Given the description of an element on the screen output the (x, y) to click on. 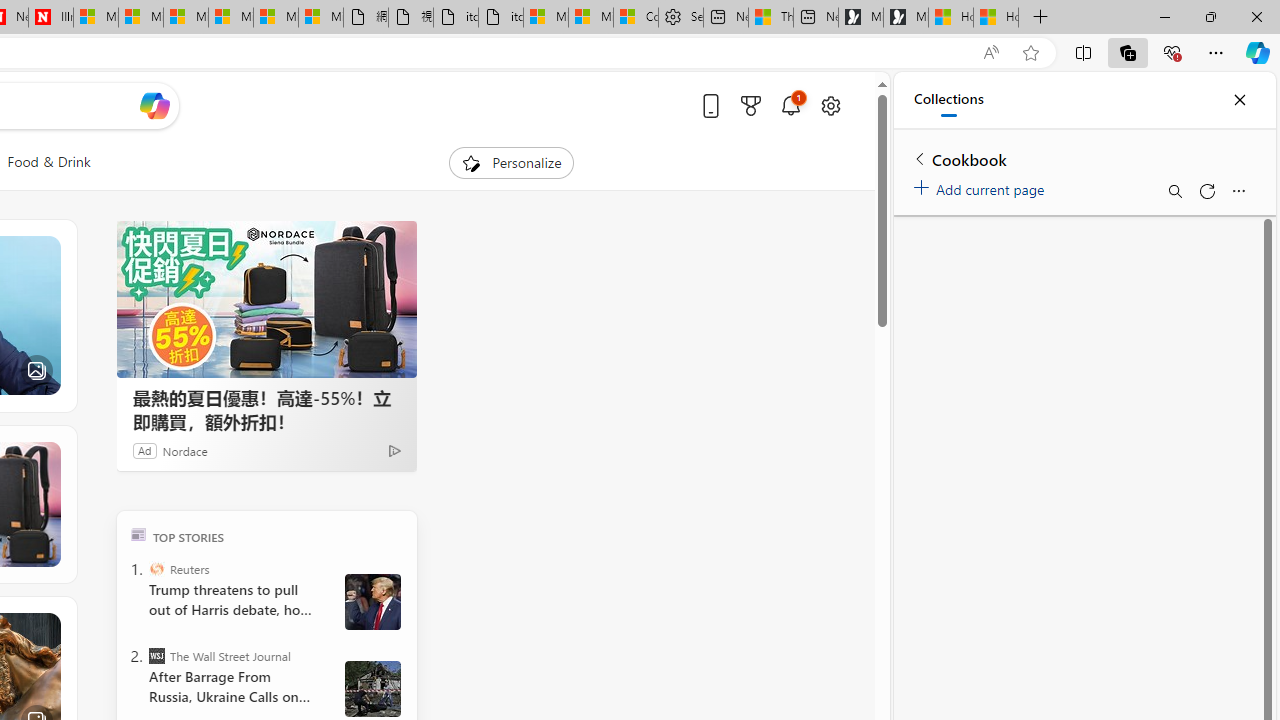
Food & Drink (48, 162)
Microsoft Services Agreement (140, 17)
Ad Choice (394, 449)
Reuters (156, 568)
TOP (138, 534)
